Given the description of an element on the screen output the (x, y) to click on. 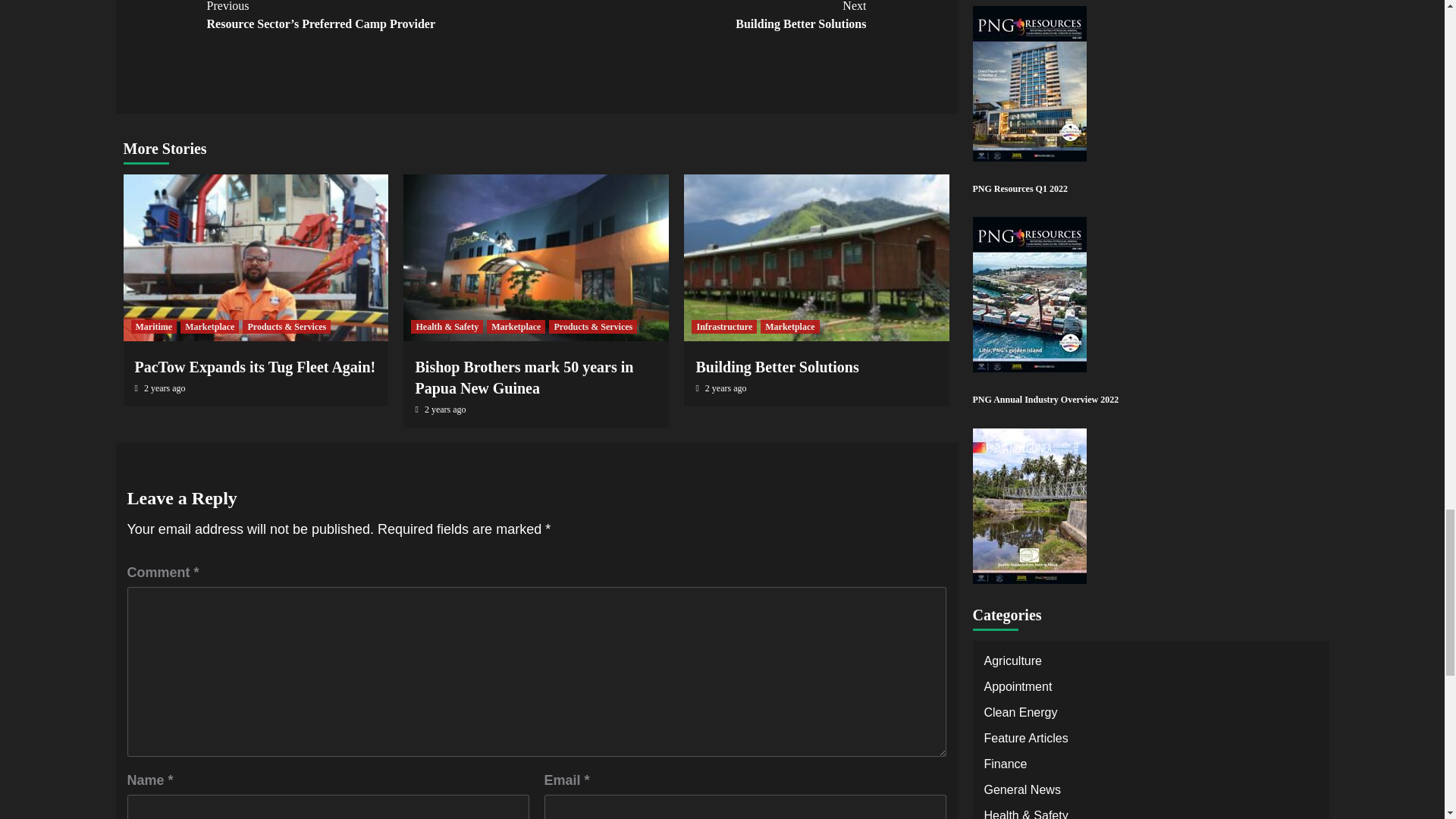
Marketplace (789, 326)
Maritime (153, 326)
Marketplace (515, 326)
Building Better Solutions (701, 16)
Infrastructure (777, 366)
Bishop Brothers mark 50 years in Papua New Guinea (724, 326)
PacTow Expands its Tug Fleet Again! (523, 377)
Marketplace (255, 366)
